Given the description of an element on the screen output the (x, y) to click on. 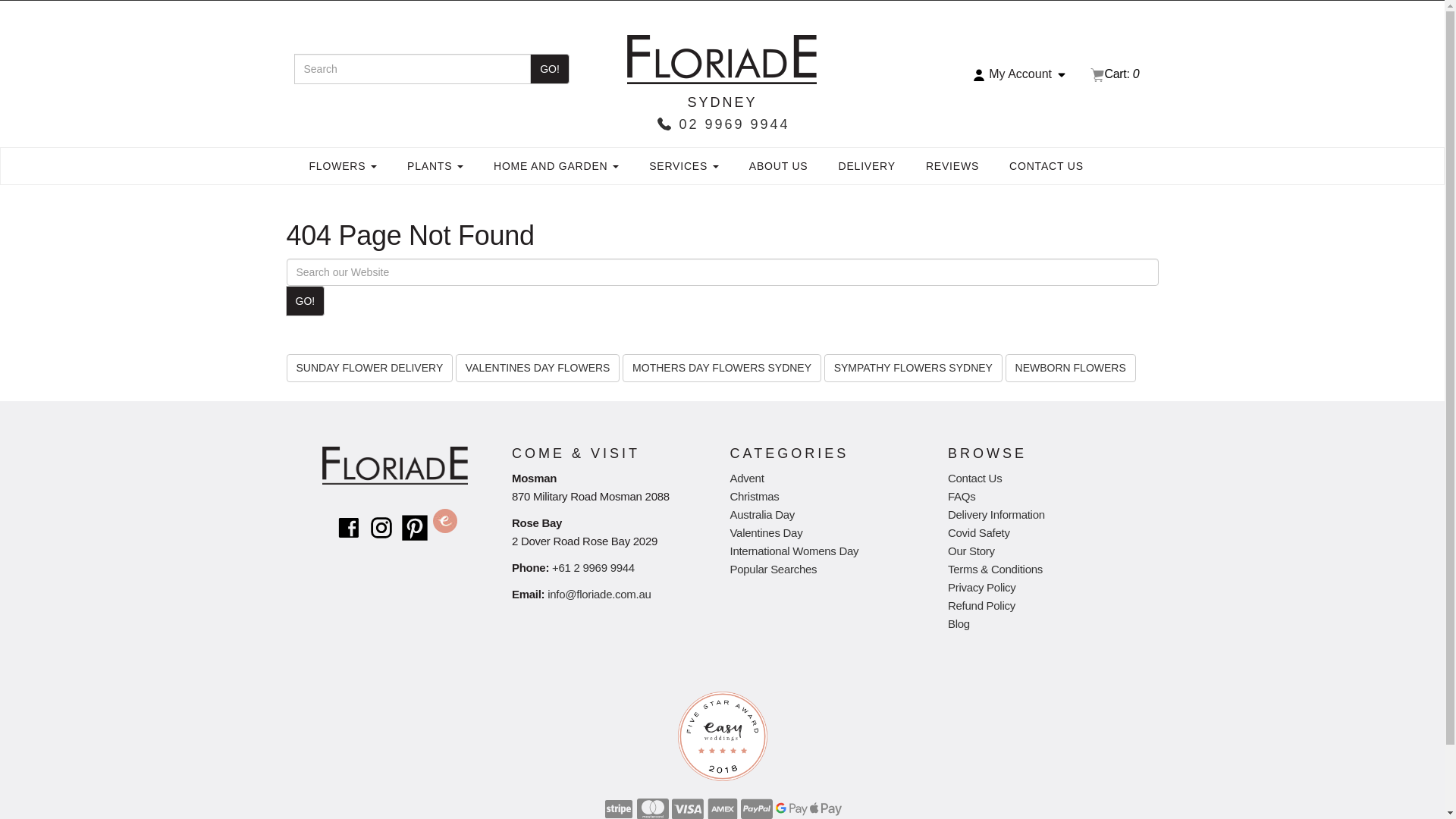
NEWBORN FLOWERS Element type: text (1070, 366)
REVIEWS Element type: text (952, 165)
SYMPATHY FLOWERS SYDNEY Element type: text (913, 366)
PLANTS Element type: text (435, 165)
NEWBORN FLOWERS Element type: text (1070, 367)
MOTHERS DAY FLOWERS SYDNEY Element type: text (721, 367)
DELIVERY Element type: text (866, 165)
Covid Safety Element type: text (978, 532)
Our Story Element type: text (970, 550)
MOTHERS DAY FLOWERS SYDNEY Element type: text (721, 366)
SUNDAY FLOWER DELIVERY Element type: text (369, 366)
My Account Element type: text (1020, 74)
VALENTINES DAY FLOWERS Element type: text (537, 367)
VALENTINES DAY FLOWERS Element type: text (537, 366)
Valentines Day Element type: text (765, 532)
Refund Policy Element type: text (981, 605)
GO! Element type: text (304, 300)
+61 2 9969 9944 Element type: text (593, 567)
SUNDAY FLOWER DELIVERY Element type: text (369, 367)
SYMPATHY FLOWERS SYDNEY Element type: text (913, 367)
Privacy Policy Element type: text (981, 586)
Popular Searches Element type: text (772, 568)
HOME AND GARDEN Element type: text (555, 165)
Australia Day Element type: text (761, 514)
Blog Element type: text (958, 623)
FAQs Element type: text (961, 495)
Delivery Information Element type: text (995, 514)
info@floriade.com.au Element type: text (598, 593)
ABOUT US Element type: text (778, 165)
CONTACT US Element type: text (1046, 165)
02 9969 9944 Element type: text (721, 123)
Contact Us Element type: text (974, 477)
Advent Element type: text (746, 477)
Terms & Conditions Element type: text (994, 568)
Christmas Element type: text (753, 495)
International Womens Day Element type: text (793, 550)
GO! Element type: text (549, 68)
SERVICES Element type: text (683, 165)
FLOWERS Element type: text (343, 165)
facebook Element type: text (348, 526)
